Given the description of an element on the screen output the (x, y) to click on. 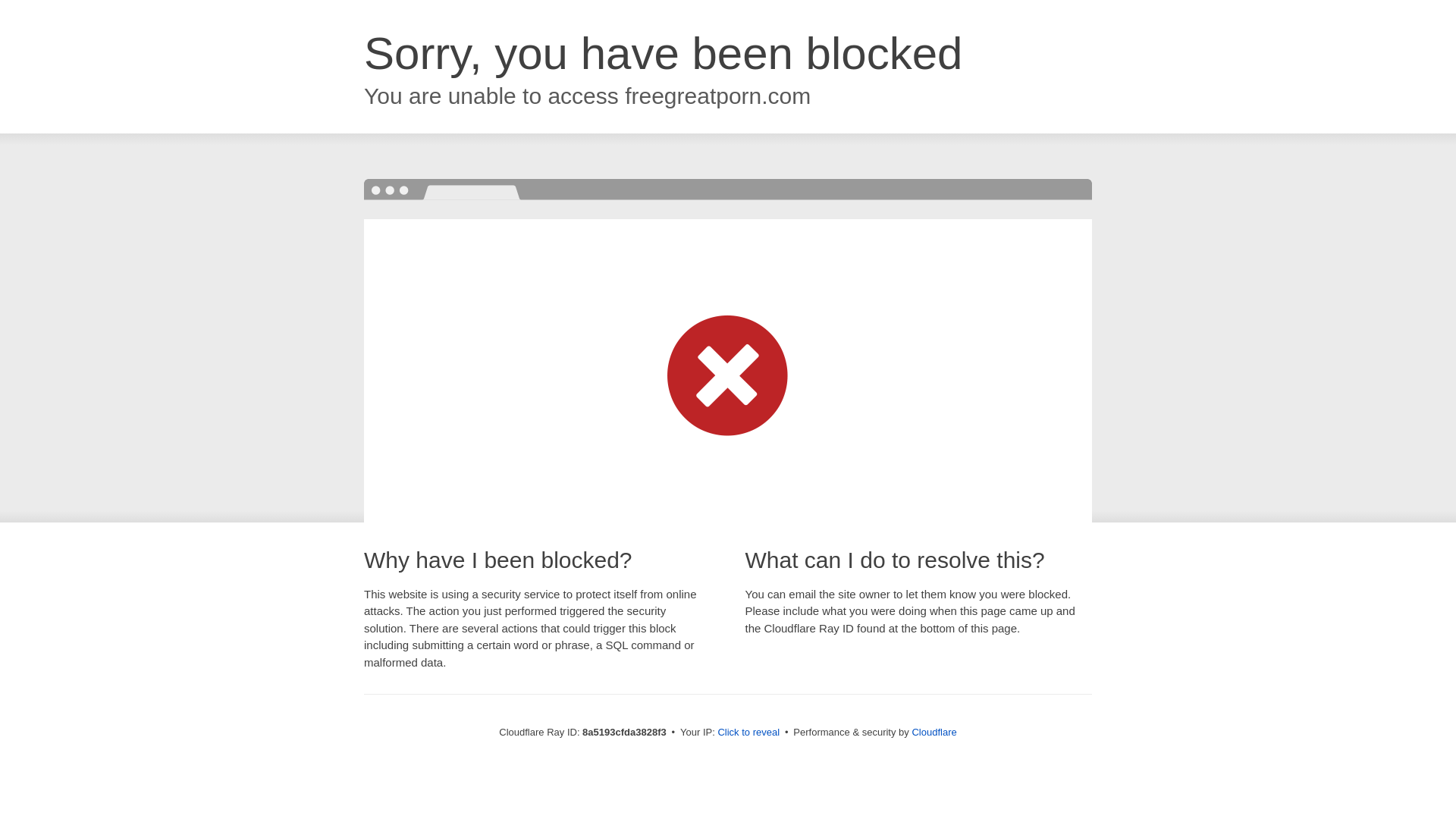
Cloudflare (933, 731)
Click to reveal (747, 732)
